Given the description of an element on the screen output the (x, y) to click on. 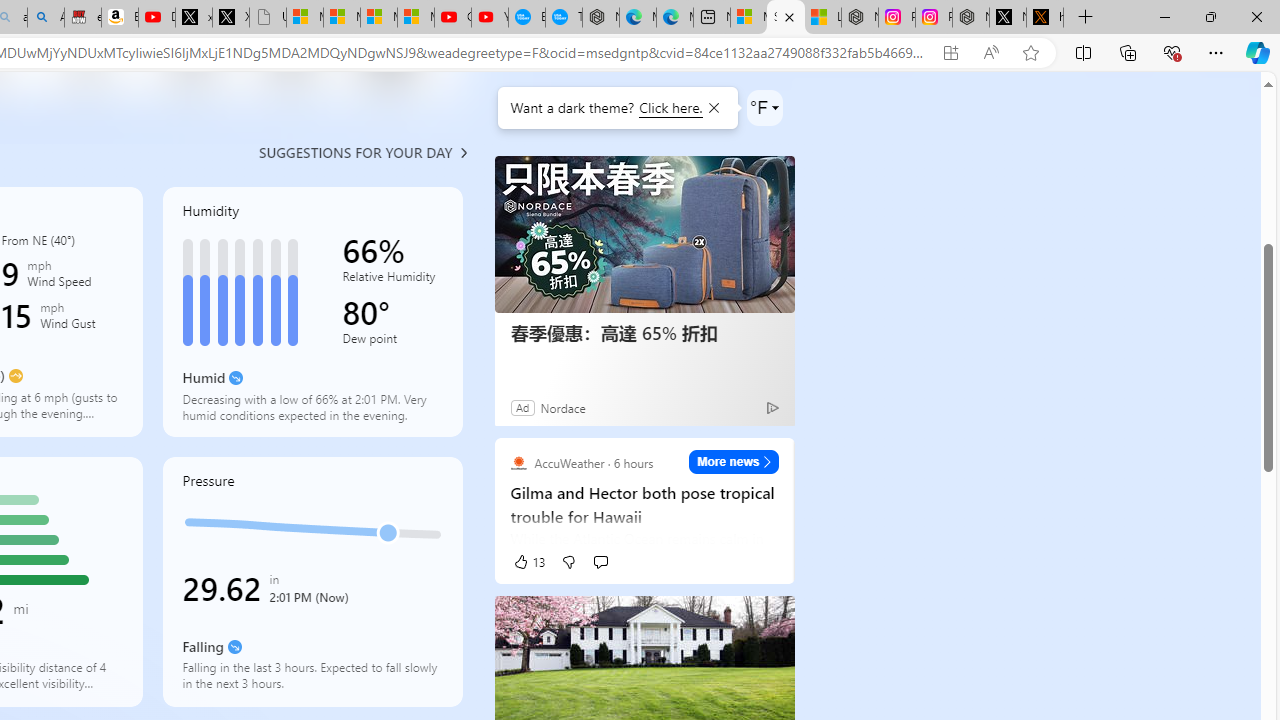
YouTube Kids - An App Created for Kids to Explore Content (490, 17)
Nordace (@NordaceOfficial) / X (1007, 17)
Amazon Echo Dot PNG - Search Images (45, 17)
App available. Install Microsoft Start Weather (950, 53)
Untitled (267, 17)
